Given the description of an element on the screen output the (x, y) to click on. 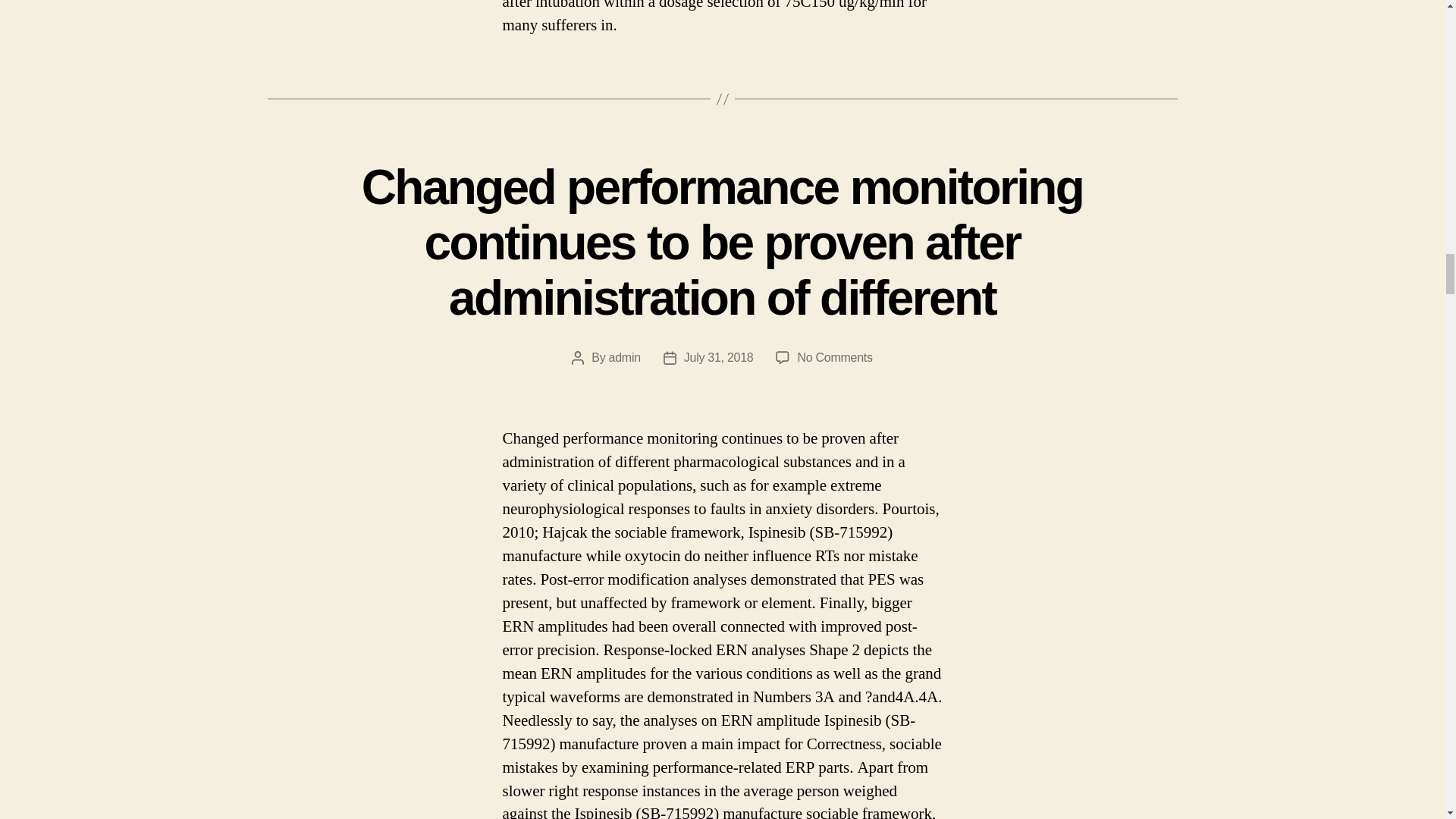
July 31, 2018 (719, 357)
admin (624, 357)
